Given the description of an element on the screen output the (x, y) to click on. 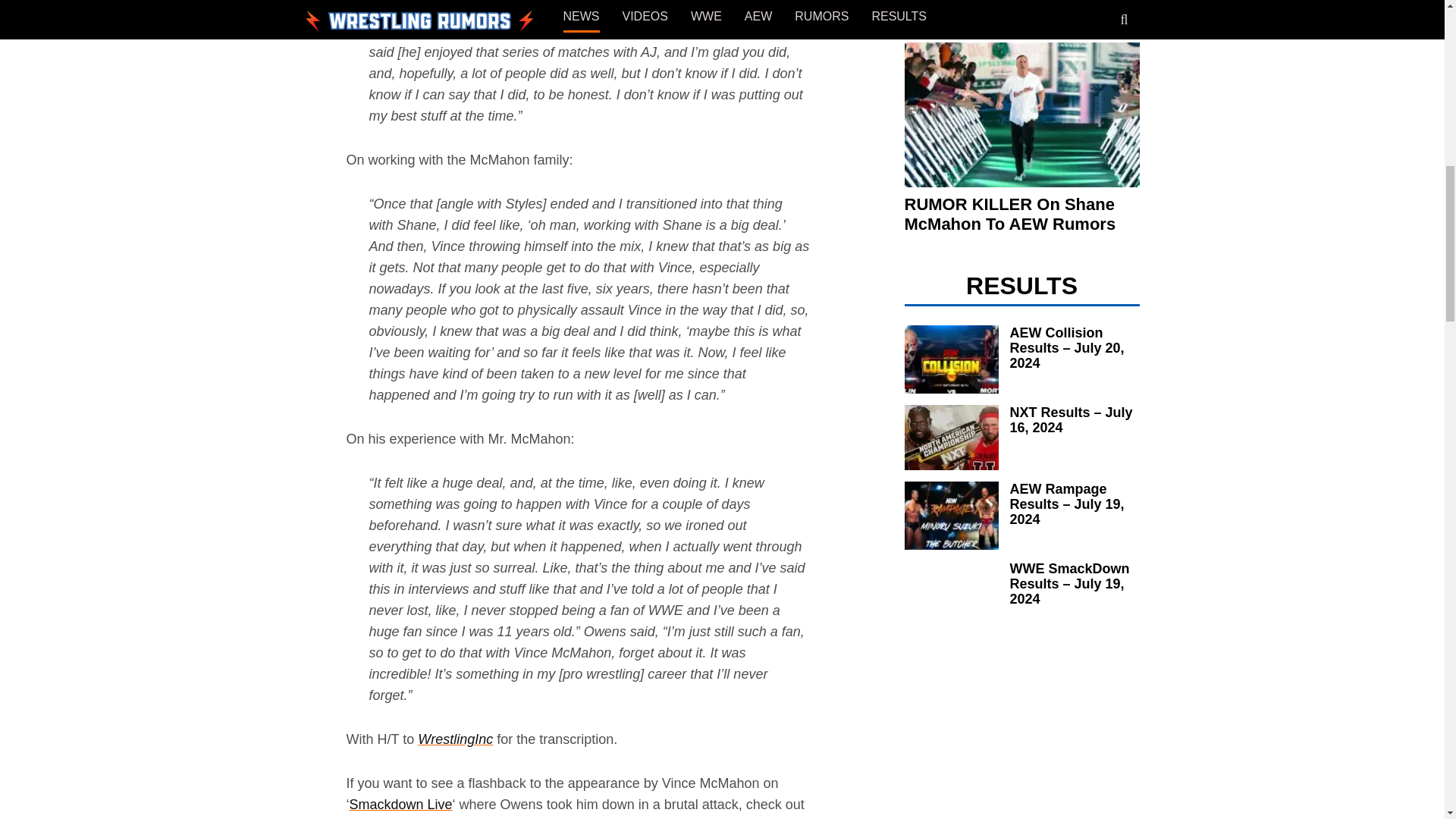
Smackdown Live (400, 804)
WrestlingInc (455, 739)
